Given the description of an element on the screen output the (x, y) to click on. 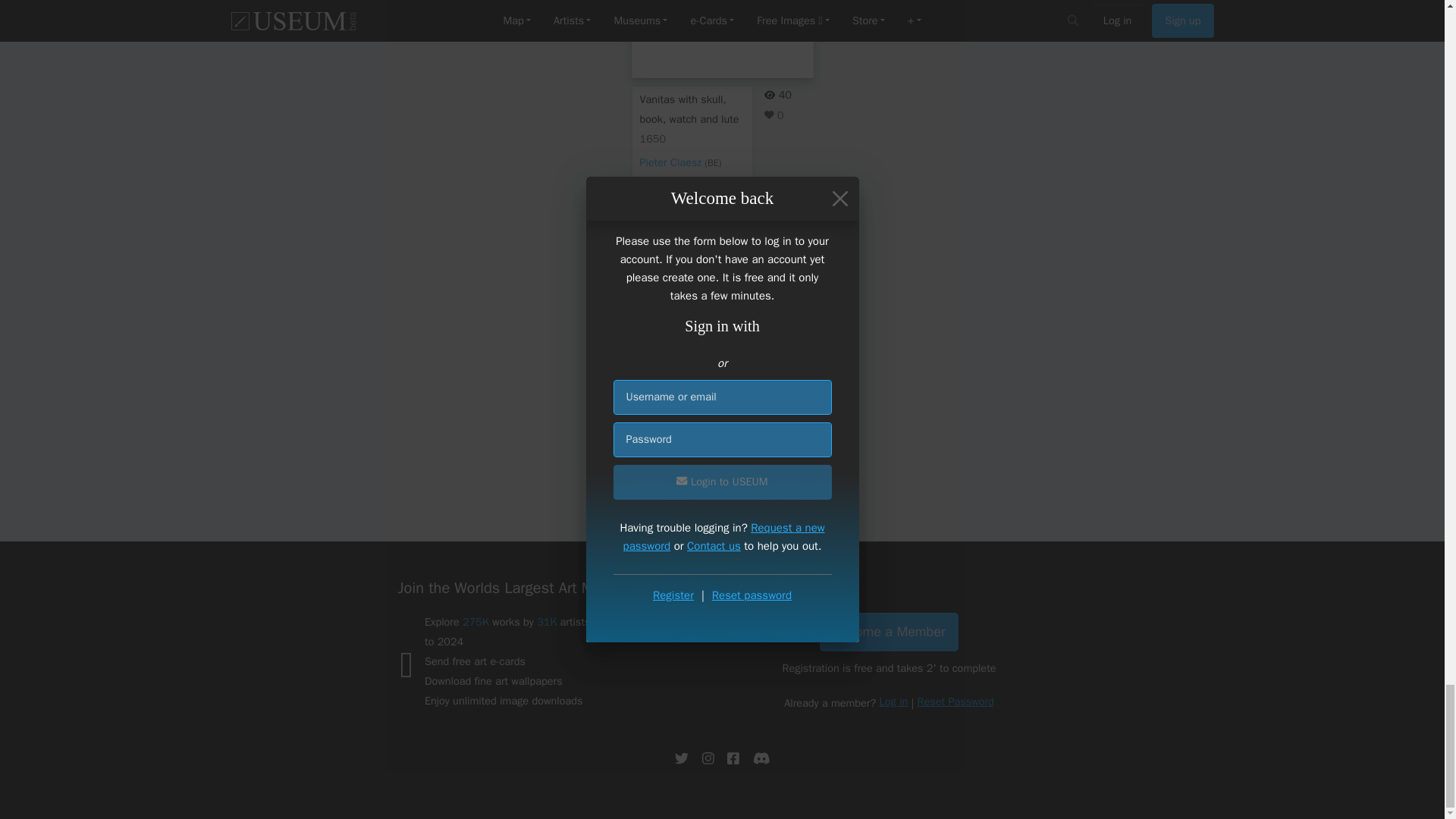
BE (713, 446)
BE (713, 162)
